Given the description of an element on the screen output the (x, y) to click on. 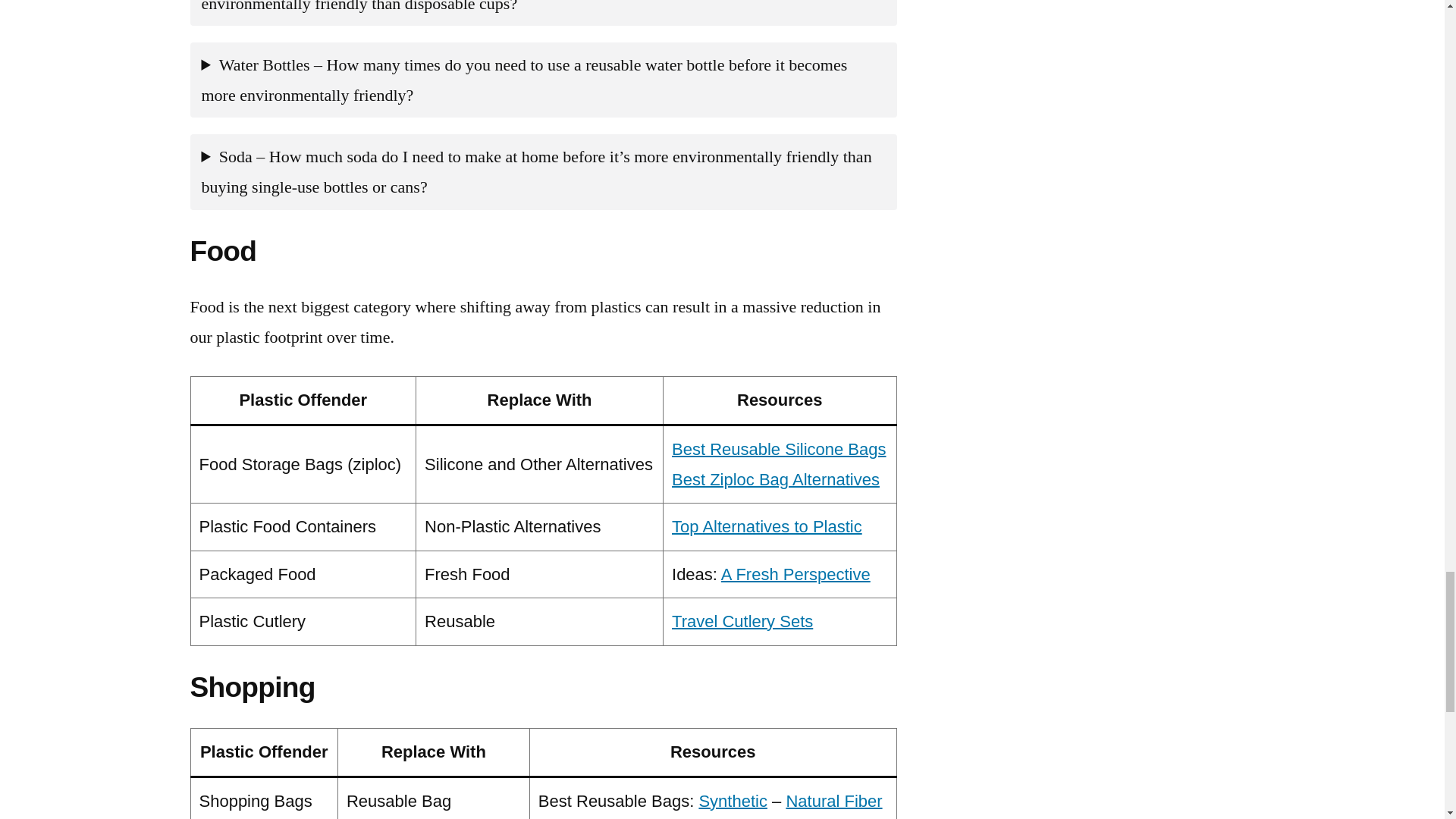
Natural Fiber (834, 800)
Travel Cutlery Sets (741, 620)
Top Alternatives to Plastic (766, 526)
Best Ziploc Bag Alternatives (775, 479)
Synthetic (732, 800)
Best Reusable Silicone Bags (778, 448)
A Fresh Perspective (795, 574)
